Given the description of an element on the screen output the (x, y) to click on. 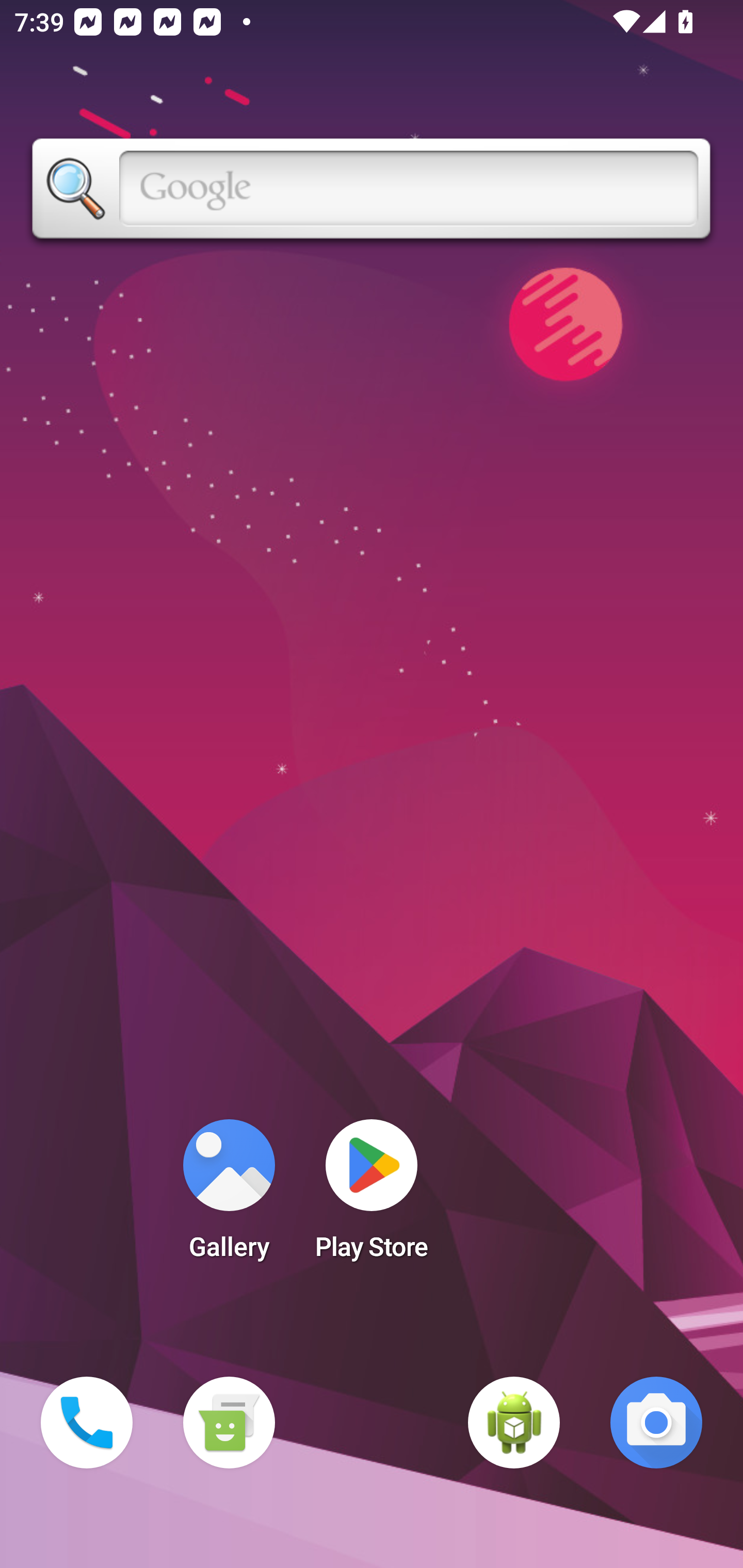
Gallery (228, 1195)
Play Store (371, 1195)
Phone (86, 1422)
Messaging (228, 1422)
WebView Browser Tester (513, 1422)
Camera (656, 1422)
